Given the description of an element on the screen output the (x, y) to click on. 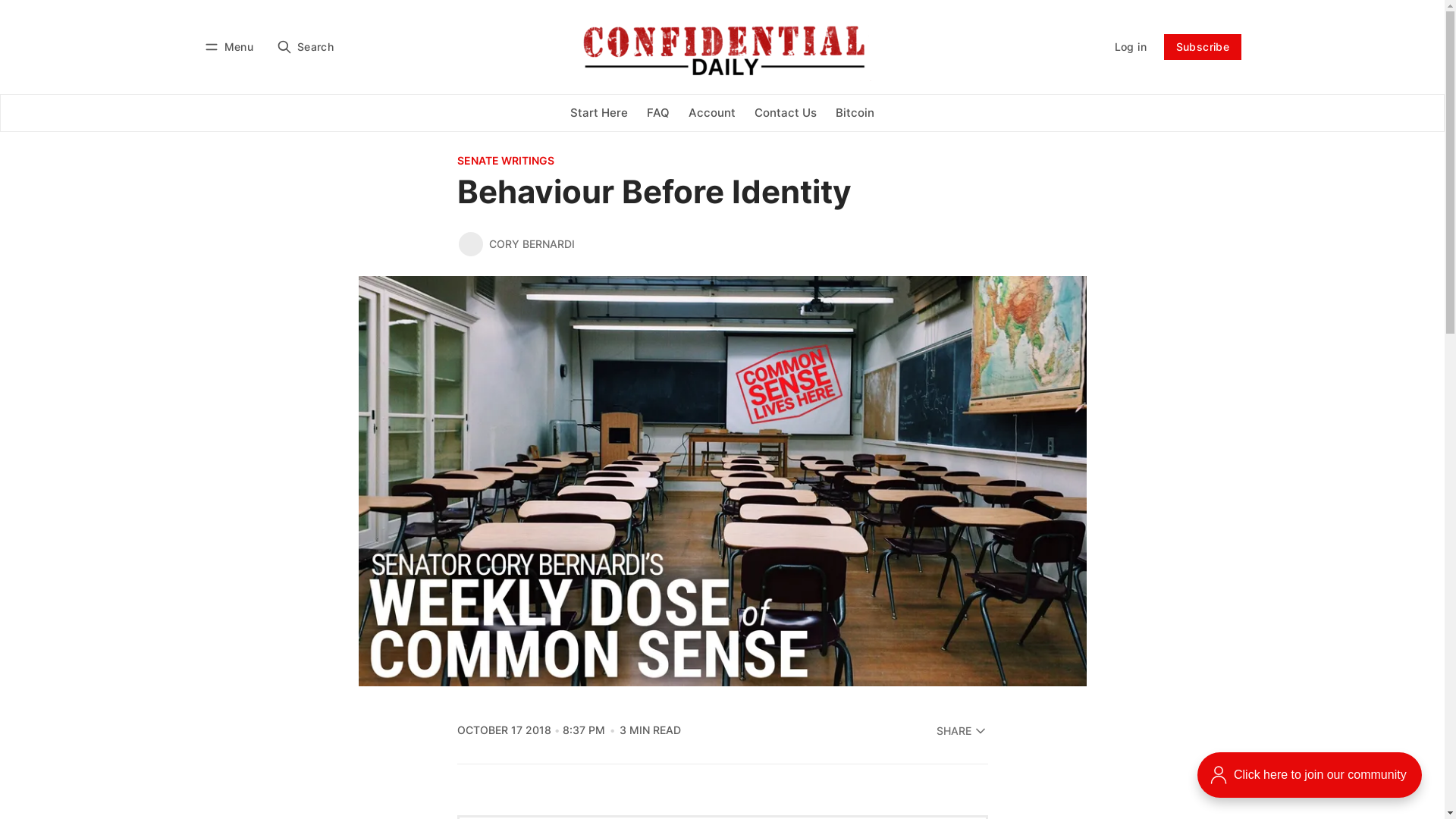
SHARE Element type: text (961, 730)
SENATE WRITINGS Element type: text (719, 161)
Start Here Element type: text (598, 112)
Search Element type: text (304, 46)
Account Element type: text (711, 112)
FAQ Element type: text (657, 112)
Cory Bernardi Element type: hover (469, 243)
CORY BERNARDI Element type: text (531, 244)
Log in Element type: text (1129, 46)
Subscribe Element type: text (1202, 46)
Bitcoin Element type: text (854, 112)
Menu Element type: text (230, 46)
Contact Us Element type: text (785, 112)
